Given the description of an element on the screen output the (x, y) to click on. 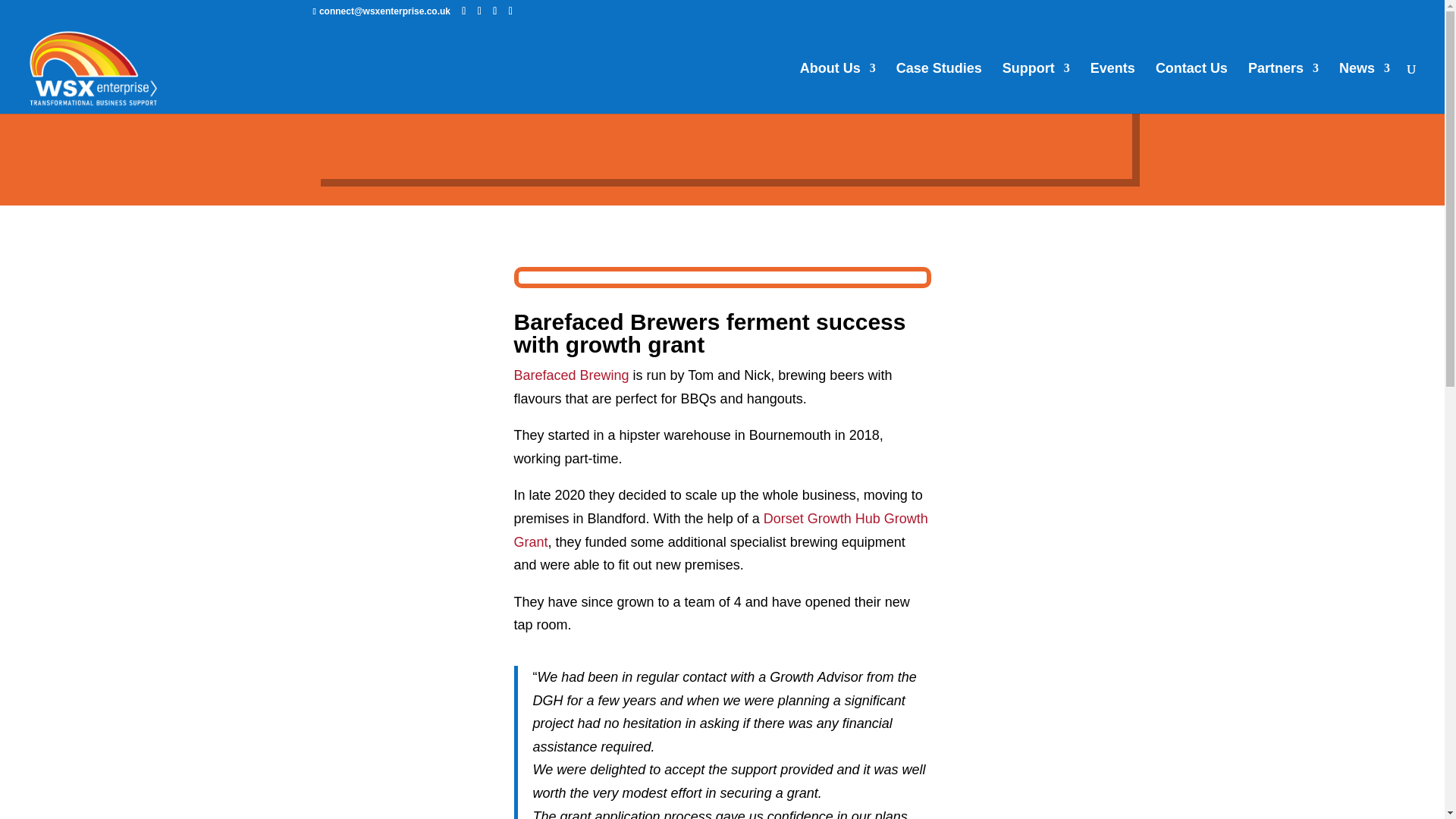
Case Studies (938, 88)
Partners (1283, 88)
Support (1036, 88)
Contact Us (1191, 88)
Dorset Growth Hub Growth Grant (720, 530)
About Us (837, 88)
News (1364, 88)
Barefaced Brewing (570, 375)
